Given the description of an element on the screen output the (x, y) to click on. 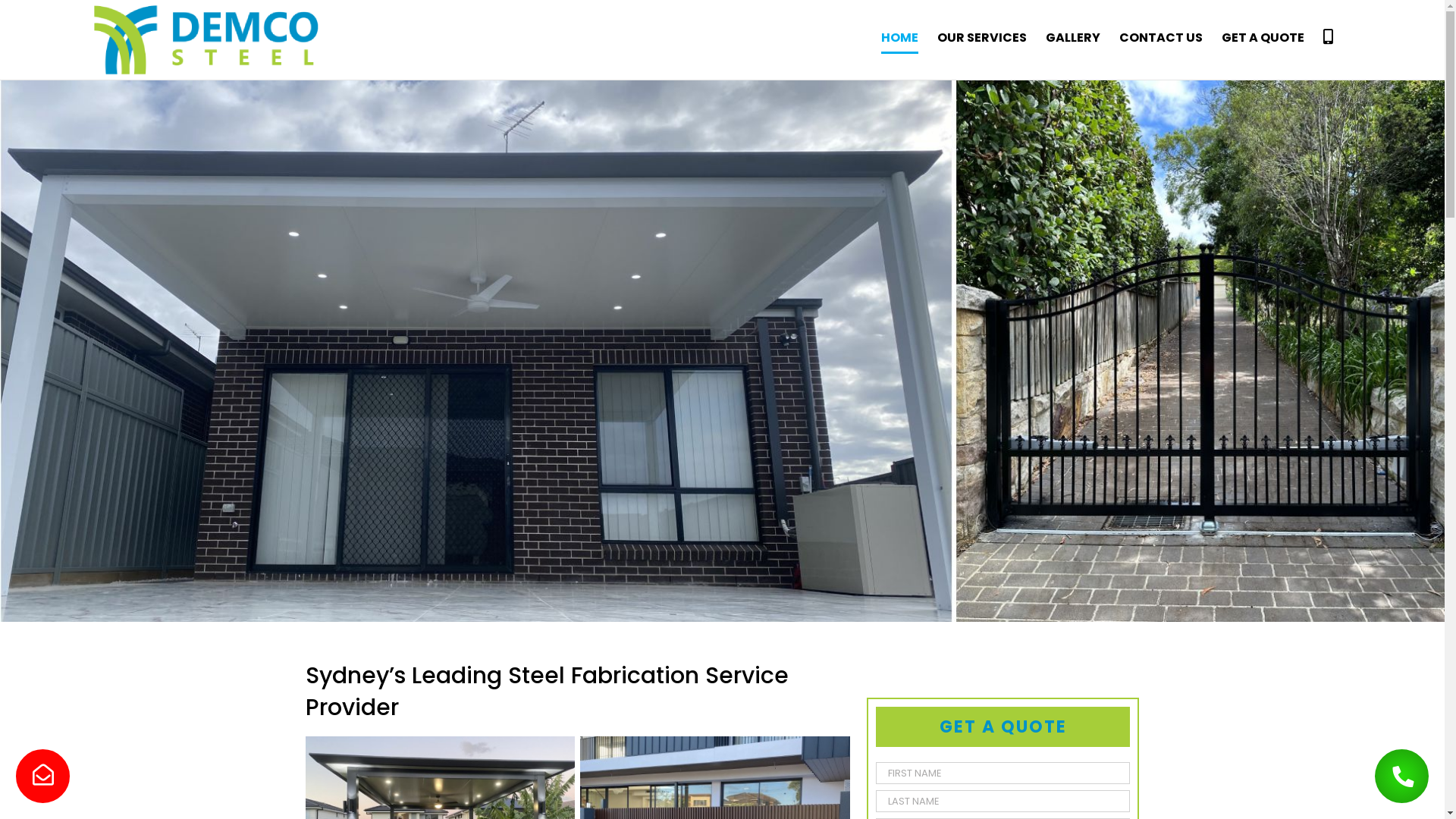
HOME Element type: text (899, 37)
GET A QUOTE Element type: text (1262, 37)
OUR SERVICES Element type: text (981, 37)
GALLERY Element type: text (1072, 37)
banner Element type: hover (722, 350)
CONTACT US Element type: text (1160, 37)
